Given the description of an element on the screen output the (x, y) to click on. 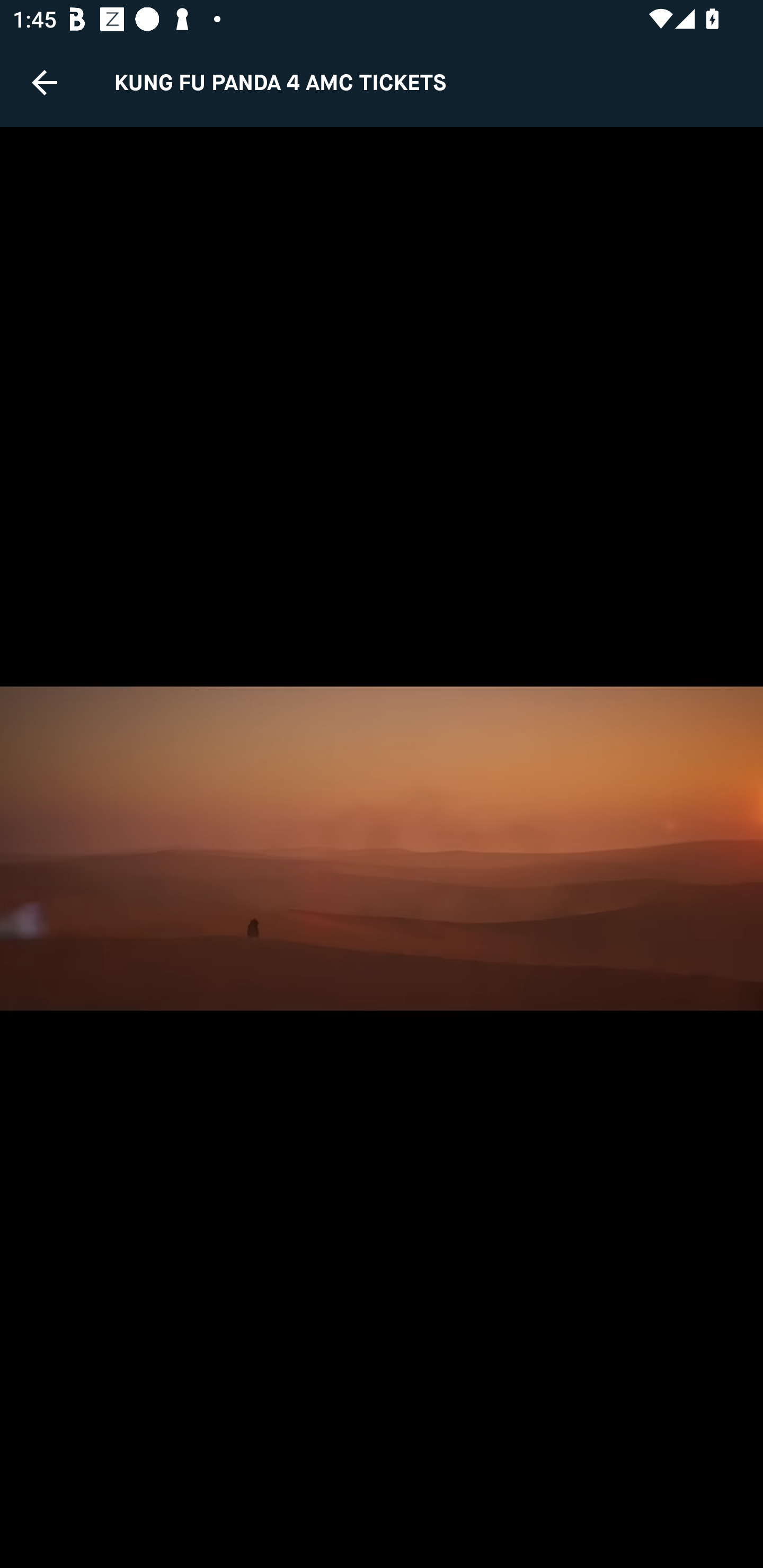
Navigate up (44, 82)
